Given the description of an element on the screen output the (x, y) to click on. 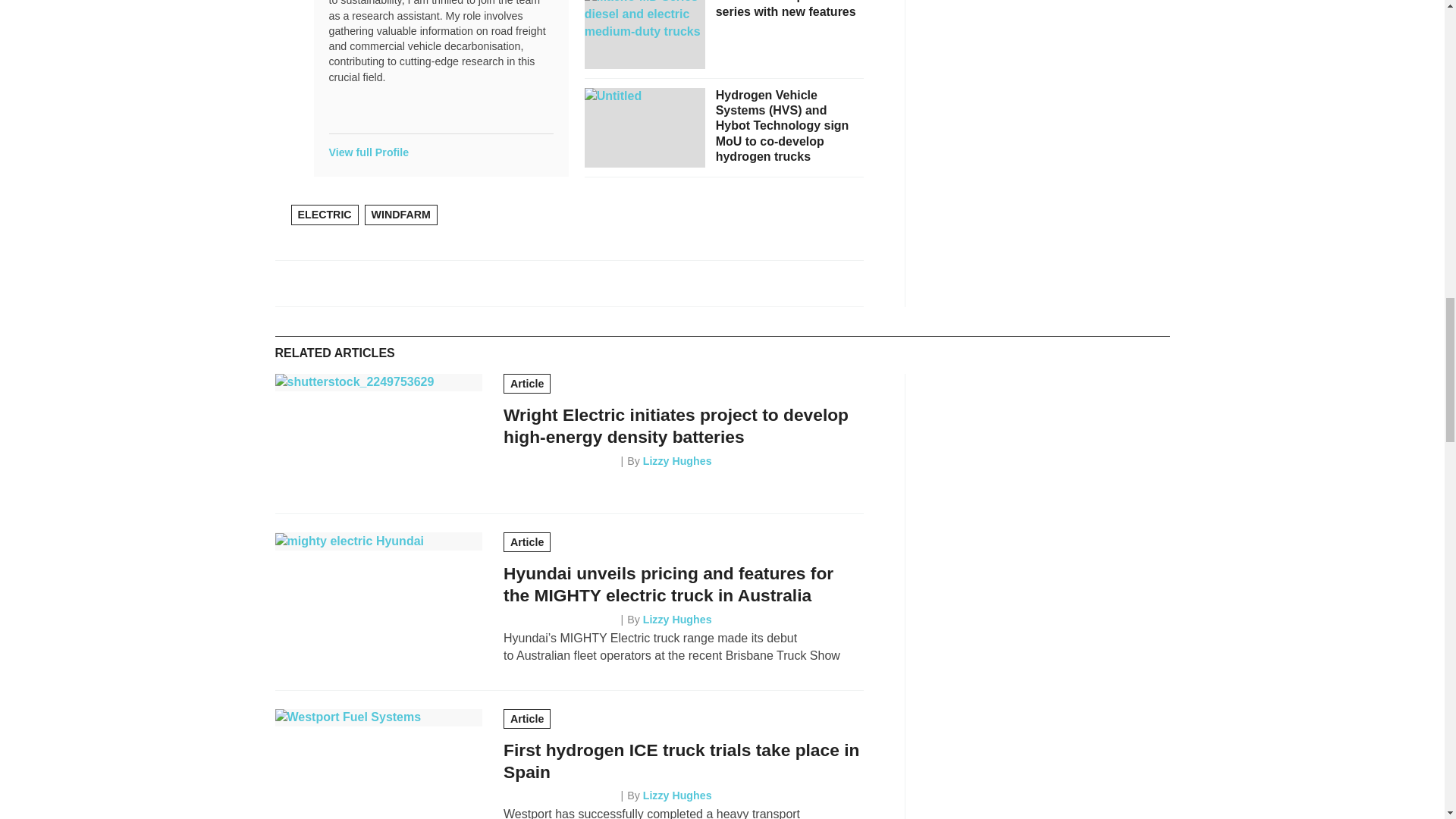
Email this article (391, 282)
Share this on Facebook (288, 282)
Share this on Twitter (322, 282)
Share this on Linked in (356, 282)
